Given the description of an element on the screen output the (x, y) to click on. 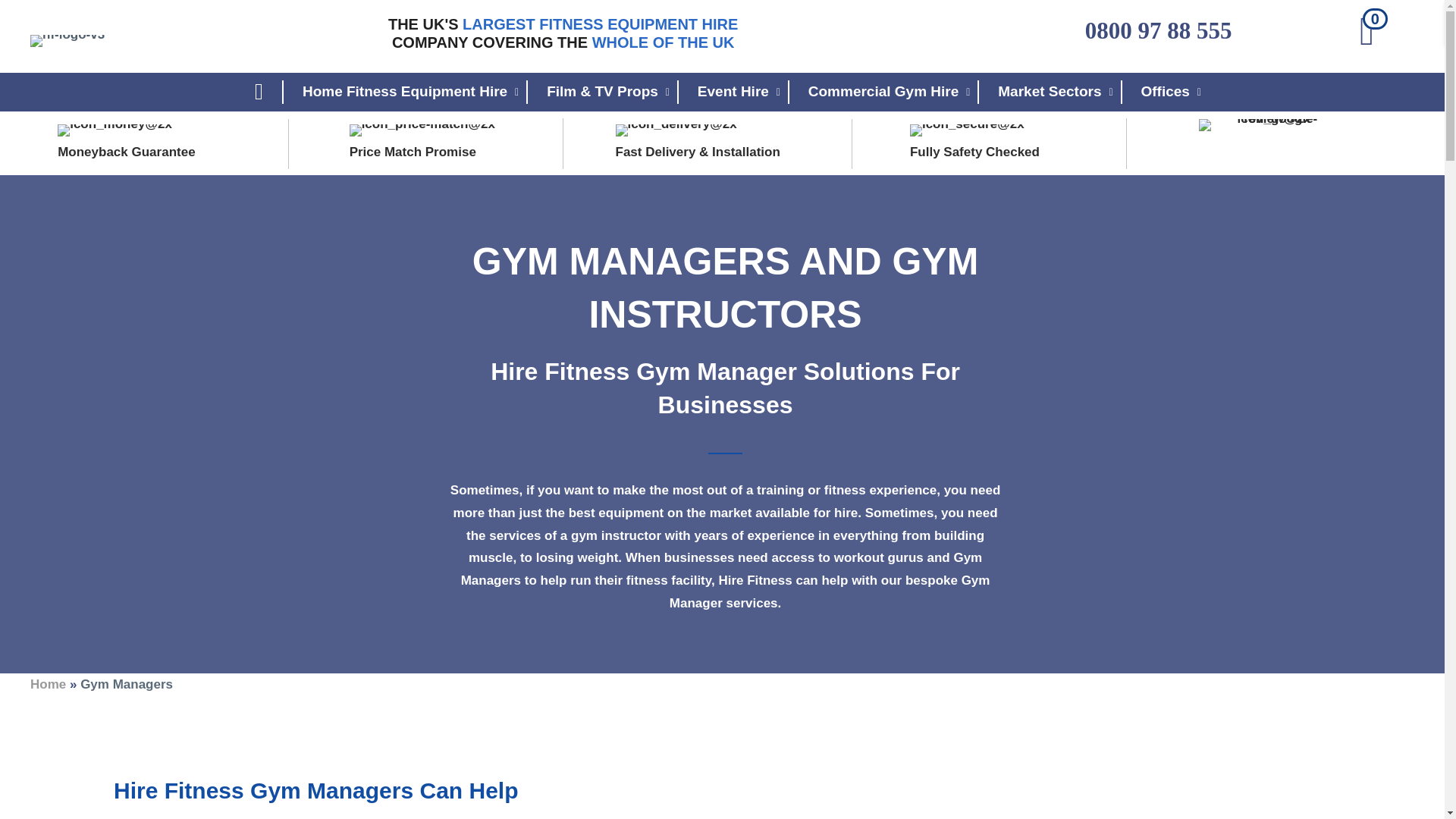
hf-logo-v3 (67, 40)
View your shopping cart (1370, 34)
0800 97 88 555 (1157, 30)
